Given the description of an element on the screen output the (x, y) to click on. 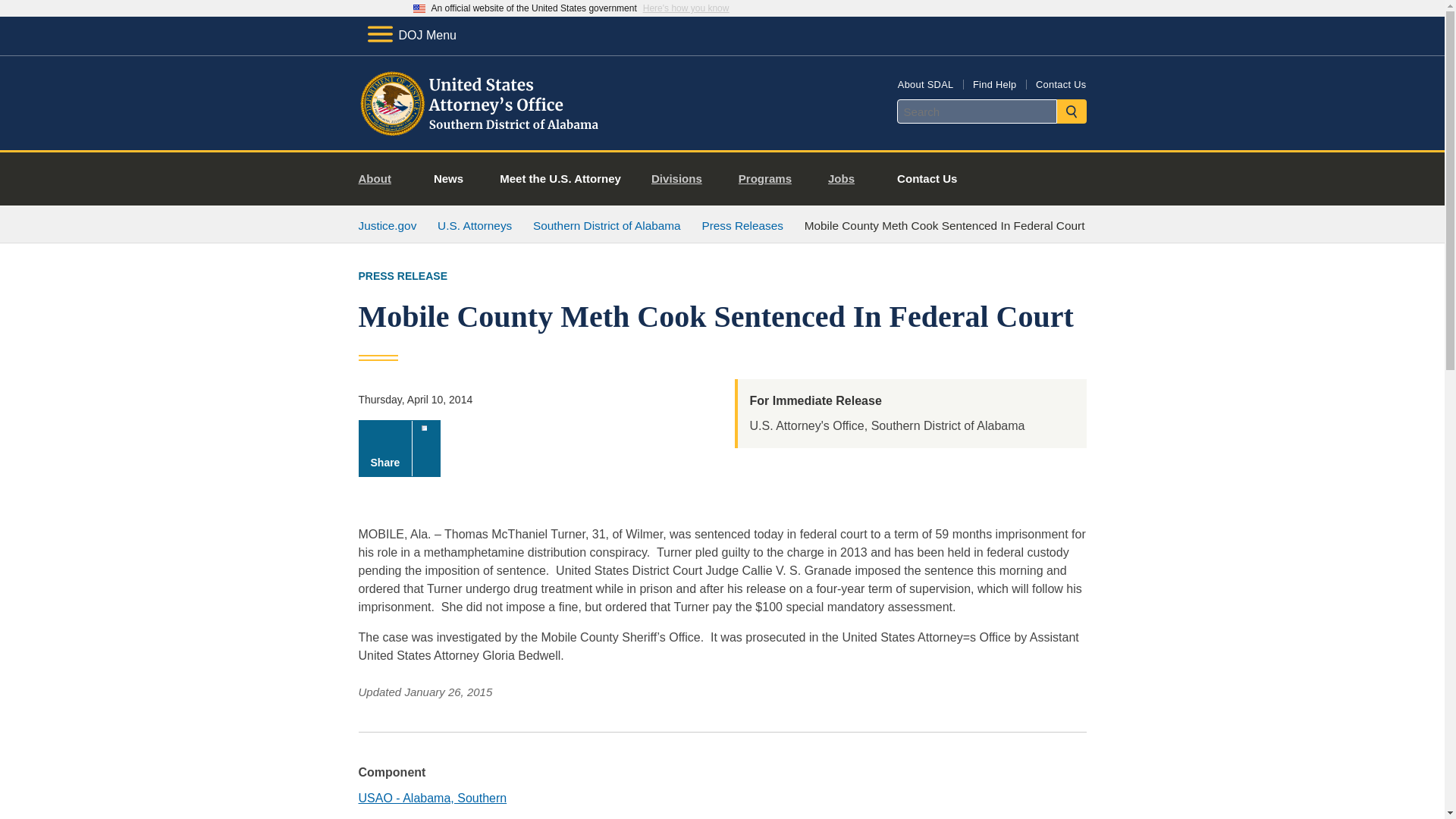
Contact Us (1060, 84)
News (447, 179)
Home (481, 132)
About SDAL (925, 84)
Justice.gov (387, 225)
DOJ Menu (411, 35)
Find Help (994, 84)
Southern District of Alabama (606, 225)
Share (398, 448)
Here's how you know (686, 8)
U.S. Attorneys (475, 225)
USAO - Alabama, Southern (432, 797)
Programs (770, 179)
Contact Us (927, 179)
Divisions (682, 179)
